Given the description of an element on the screen output the (x, y) to click on. 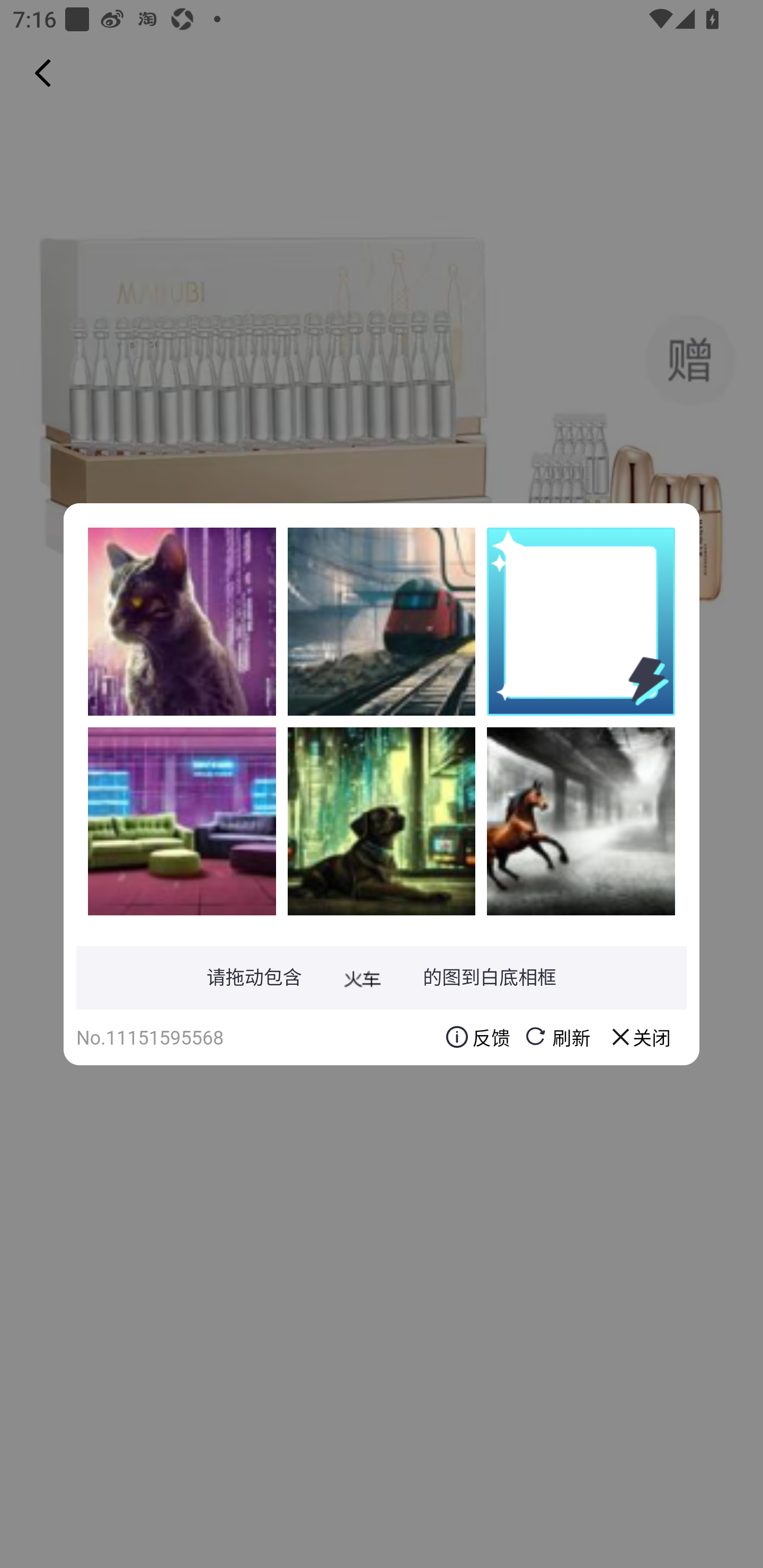
L9cMf+3n9o12cvVvHwNnN5DUtIU26en (381, 820)
